Given the description of an element on the screen output the (x, y) to click on. 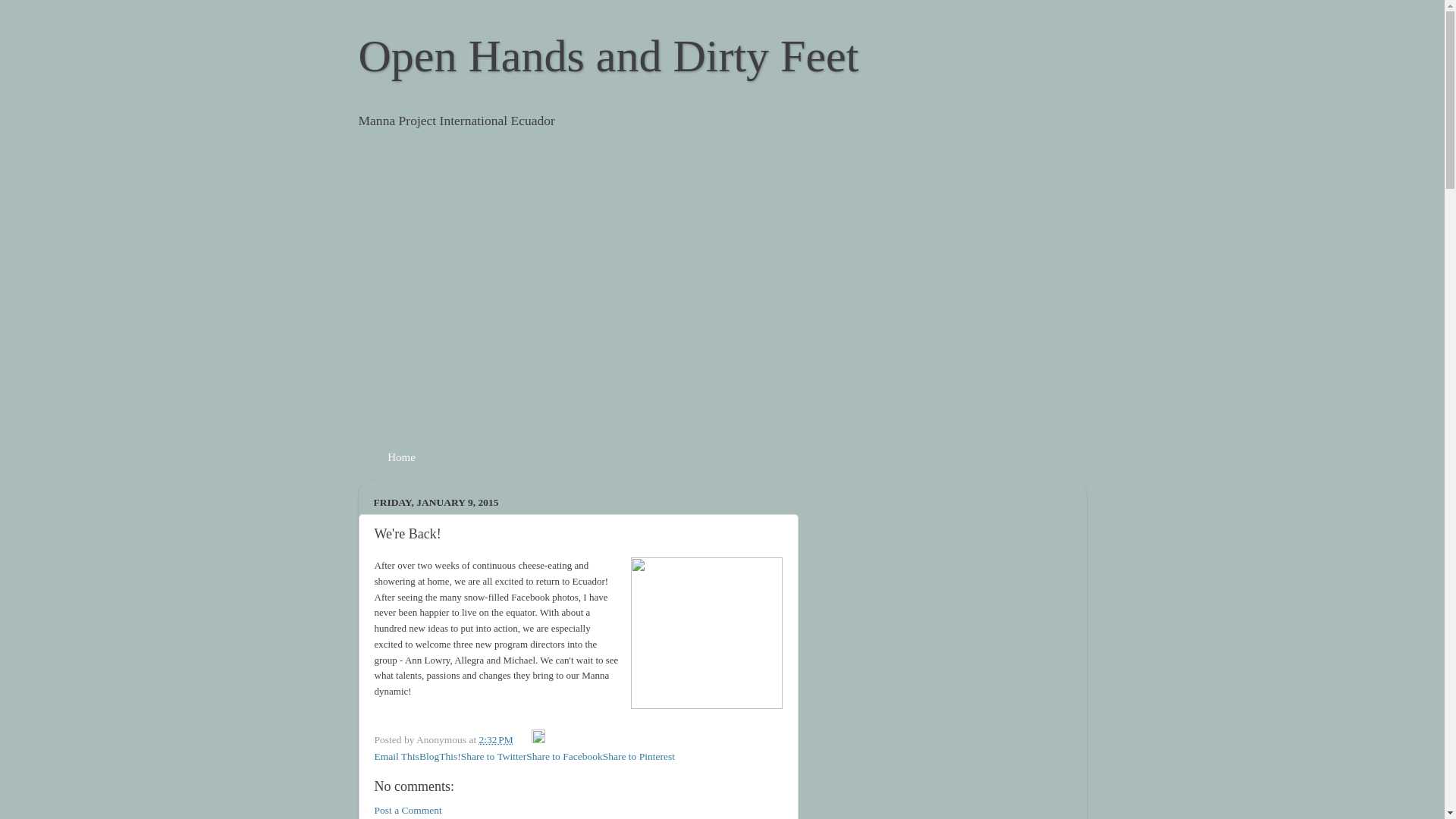
Edit Post (537, 739)
BlogThis! (440, 756)
Share to Facebook (563, 756)
Open Hands and Dirty Feet (608, 56)
Email This (396, 756)
Share to Pinterest (638, 756)
Email Post (523, 739)
permanent link (496, 739)
Share to Facebook (563, 756)
Post a Comment (408, 809)
BlogThis! (440, 756)
Email This (396, 756)
Share to Twitter (494, 756)
Home (399, 457)
